Given the description of an element on the screen output the (x, y) to click on. 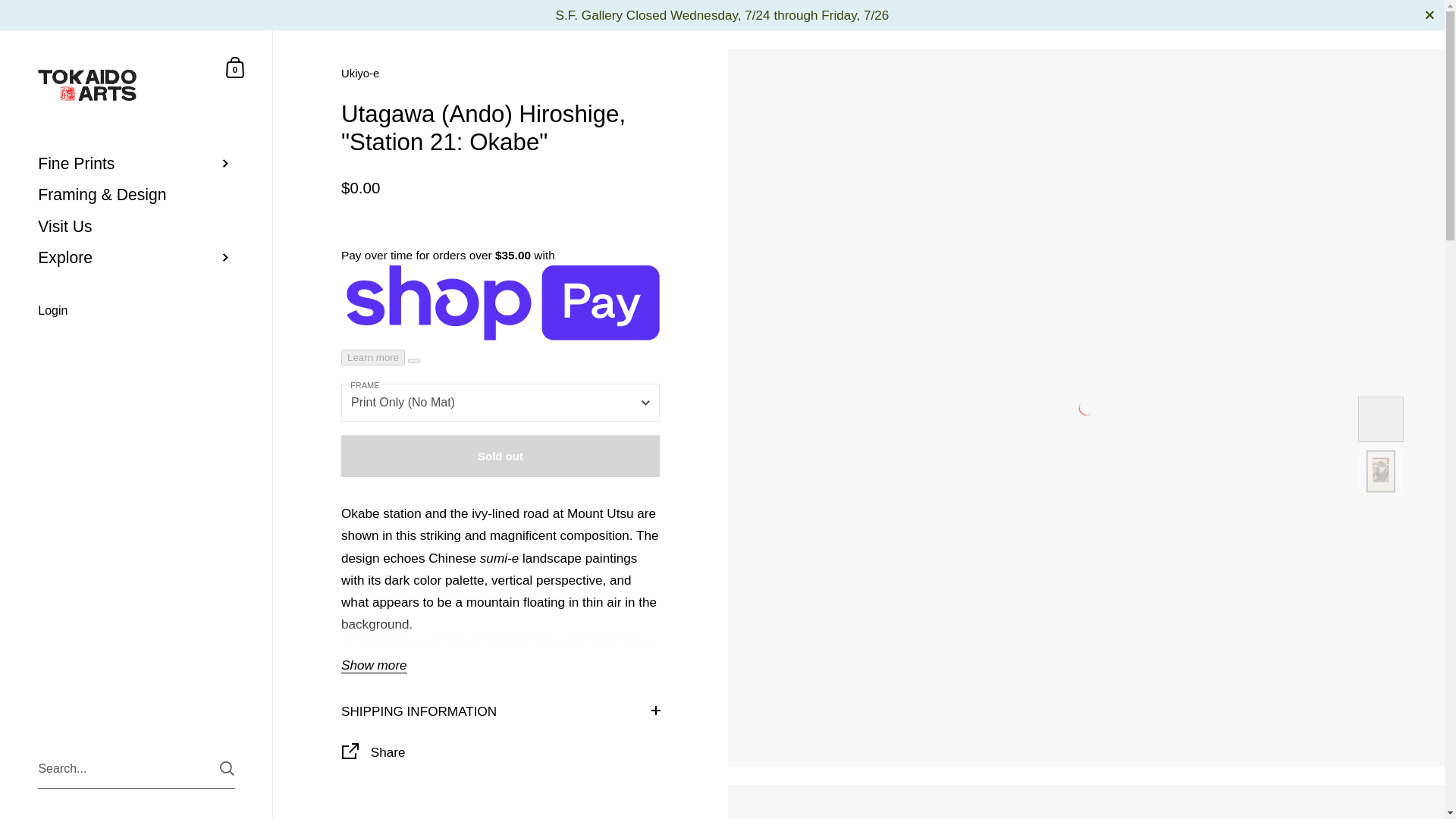
Sold out (499, 455)
Fine Prints (136, 163)
Share (499, 754)
Show more (373, 665)
Explore (136, 256)
Visit Us (136, 225)
Login (136, 311)
Shopping Cart (235, 66)
Skip to content (235, 66)
